Given the description of an element on the screen output the (x, y) to click on. 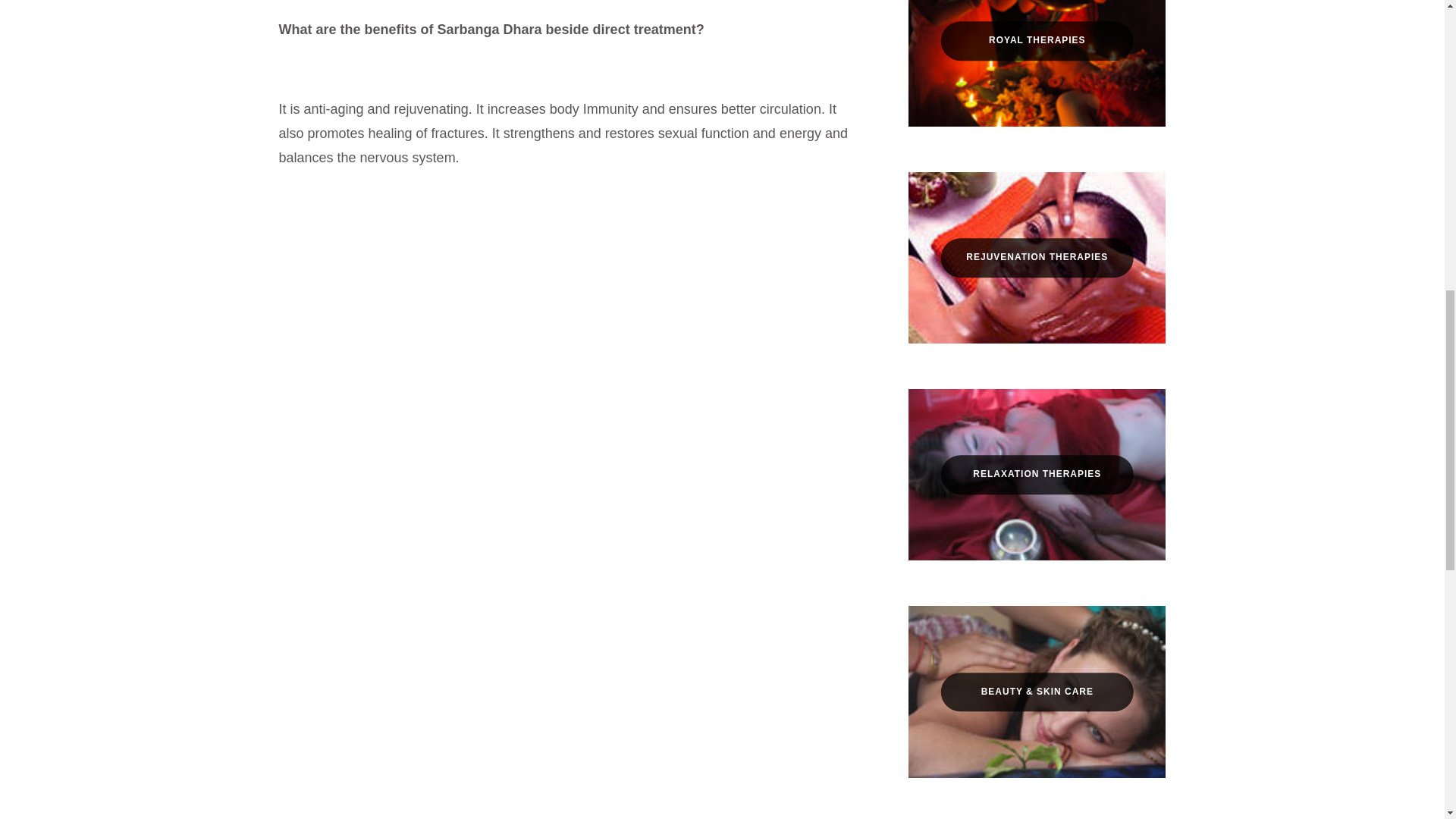
ROYAL THERAPIES (1037, 40)
REJUVENATION THERAPIES (1037, 257)
